Given the description of an element on the screen output the (x, y) to click on. 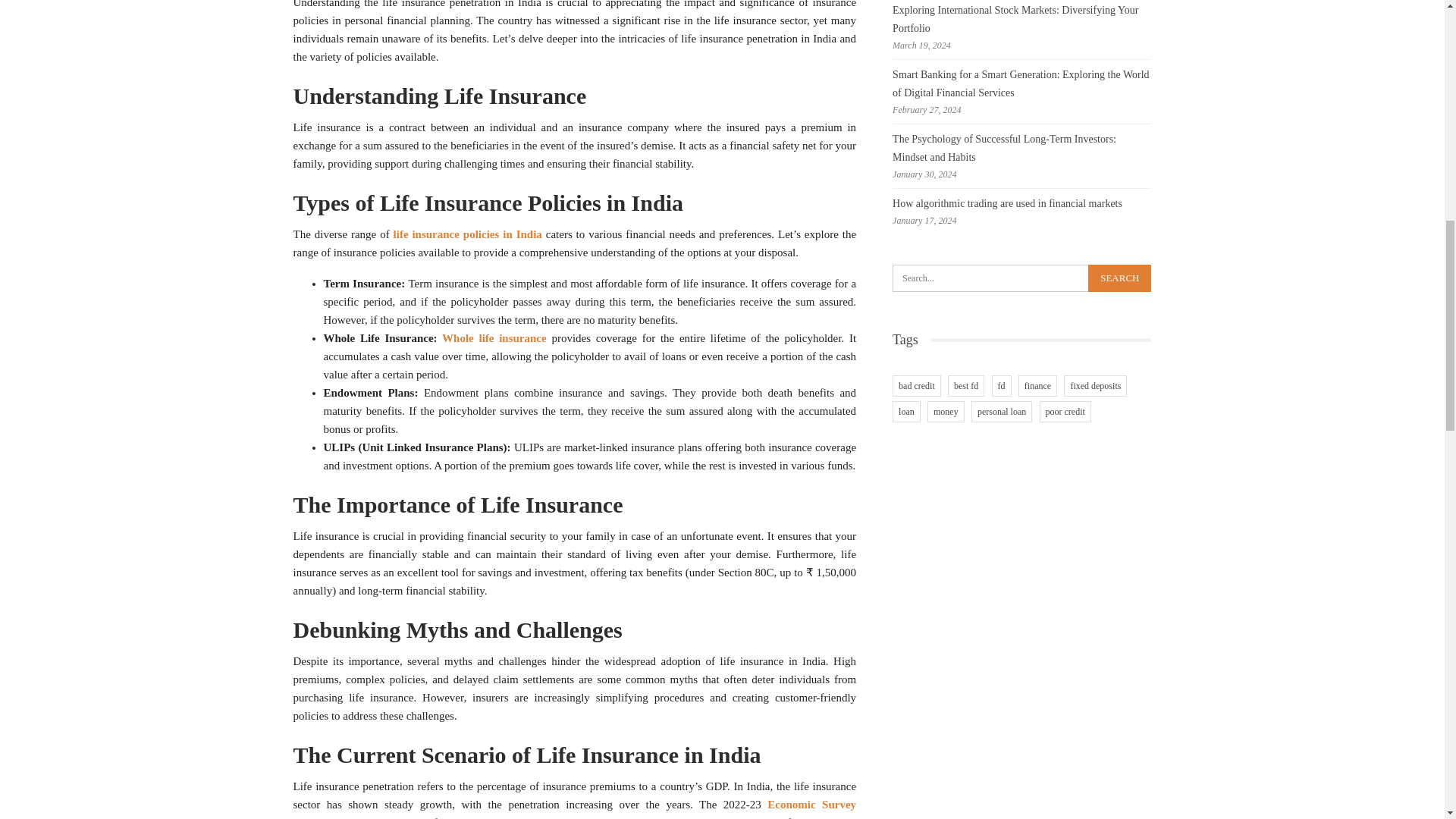
life insurance policies in India (467, 234)
Whole life insurance (494, 337)
Search (1119, 277)
Economic Survey (811, 804)
Search (1119, 277)
